Given the description of an element on the screen output the (x, y) to click on. 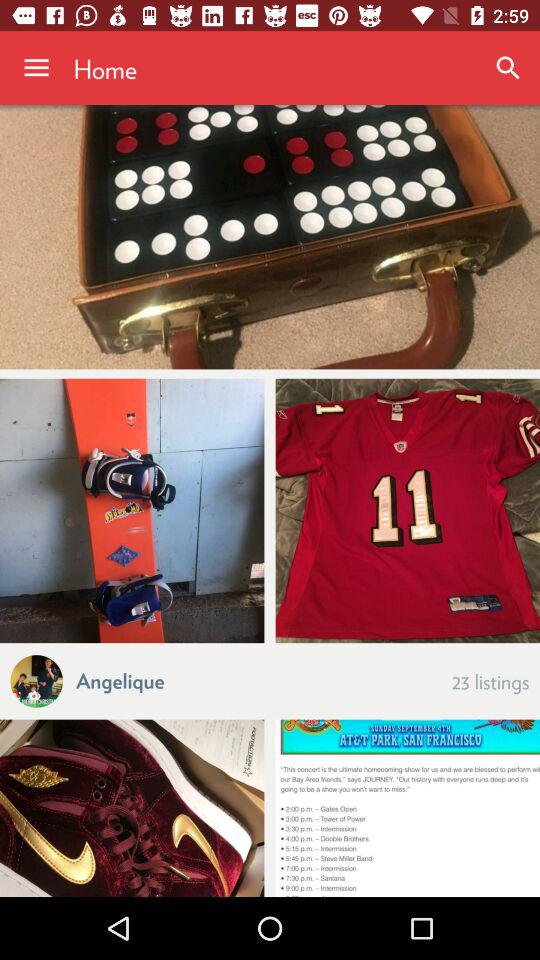
flip to angelique icon (120, 679)
